Given the description of an element on the screen output the (x, y) to click on. 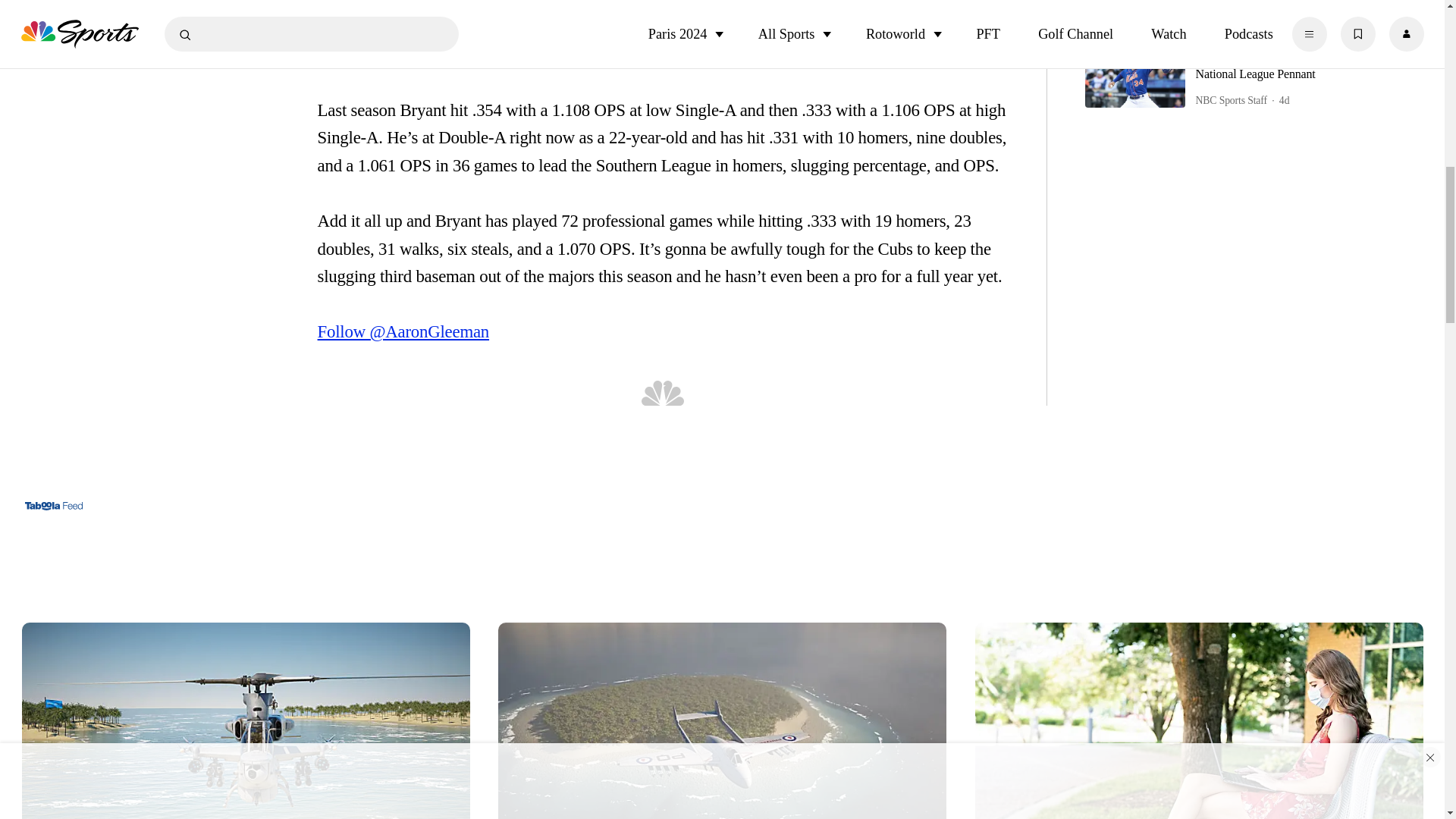
If you own a mouse, play it for 1 minute. (245, 715)
